Given the description of an element on the screen output the (x, y) to click on. 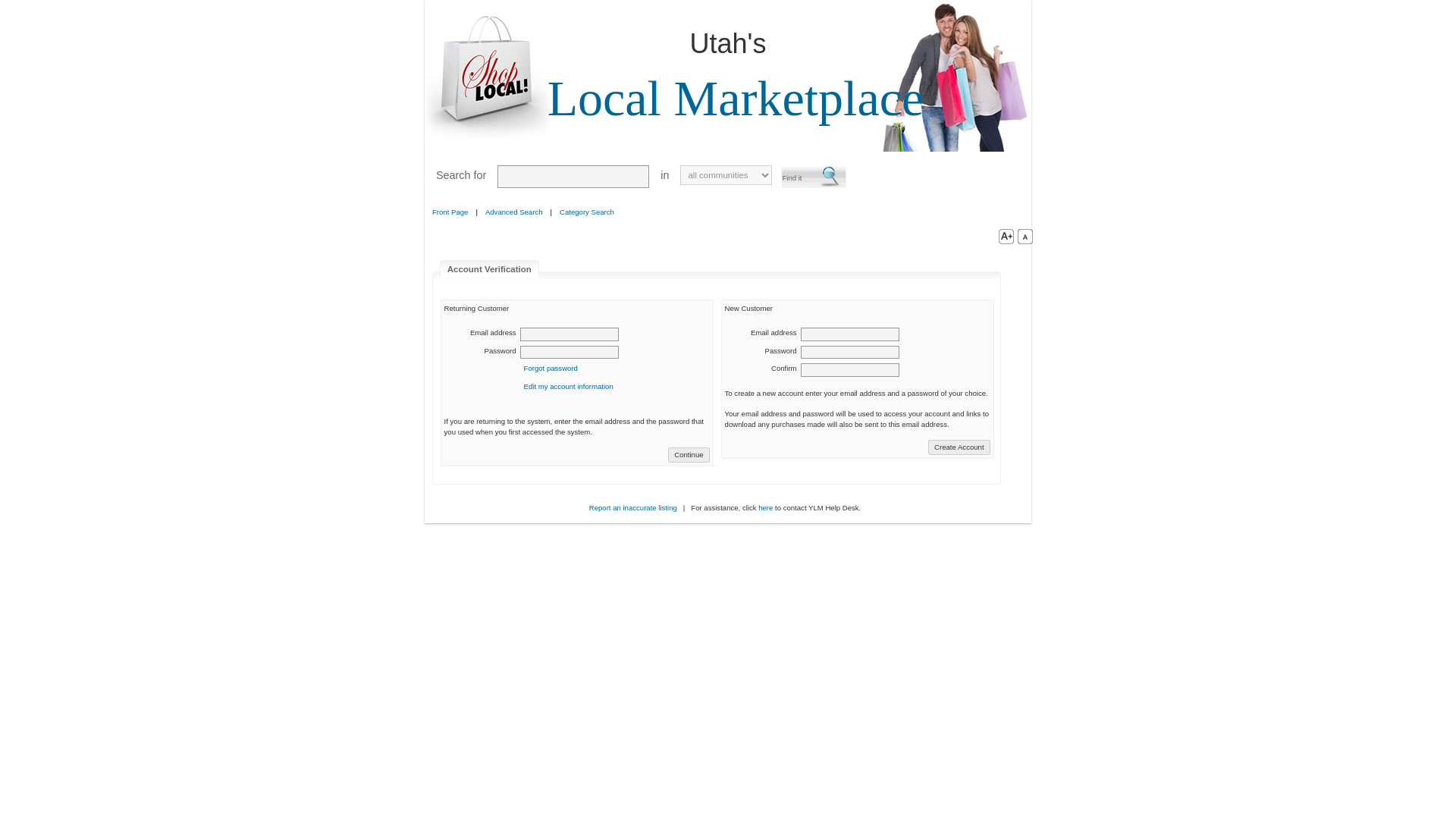
Advanced Search (513, 212)
Report an inaccurate listing (633, 507)
Report an Inaccurate Listing (633, 507)
Reset font size (1024, 235)
Continue (688, 454)
Find it (813, 177)
Find it (813, 177)
Continue (688, 454)
Advanced Search (513, 212)
Forgot password (551, 367)
Increase font size (1002, 235)
Category Search (586, 212)
here (765, 507)
Create Account (959, 447)
Category Search (585, 212)
